Given the description of an element on the screen output the (x, y) to click on. 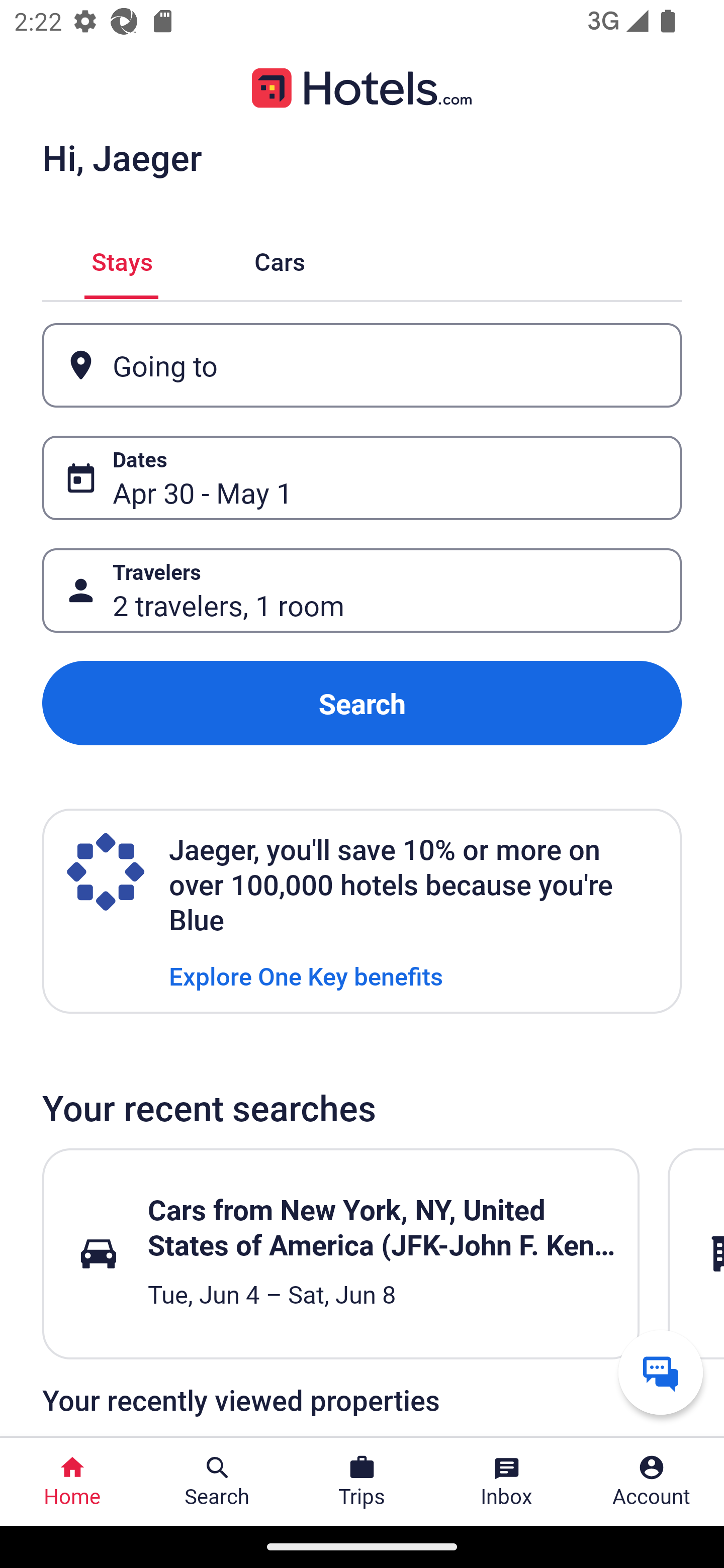
Hi, Jaeger (121, 156)
Cars (279, 259)
Going to Button (361, 365)
Dates Button Apr 30 - May 1 (361, 477)
Travelers Button 2 travelers, 1 room (361, 590)
Search (361, 702)
Get help from a virtual agent (660, 1371)
Search Search Button (216, 1481)
Trips Trips Button (361, 1481)
Inbox Inbox Button (506, 1481)
Account Profile. Button (651, 1481)
